Given the description of an element on the screen output the (x, y) to click on. 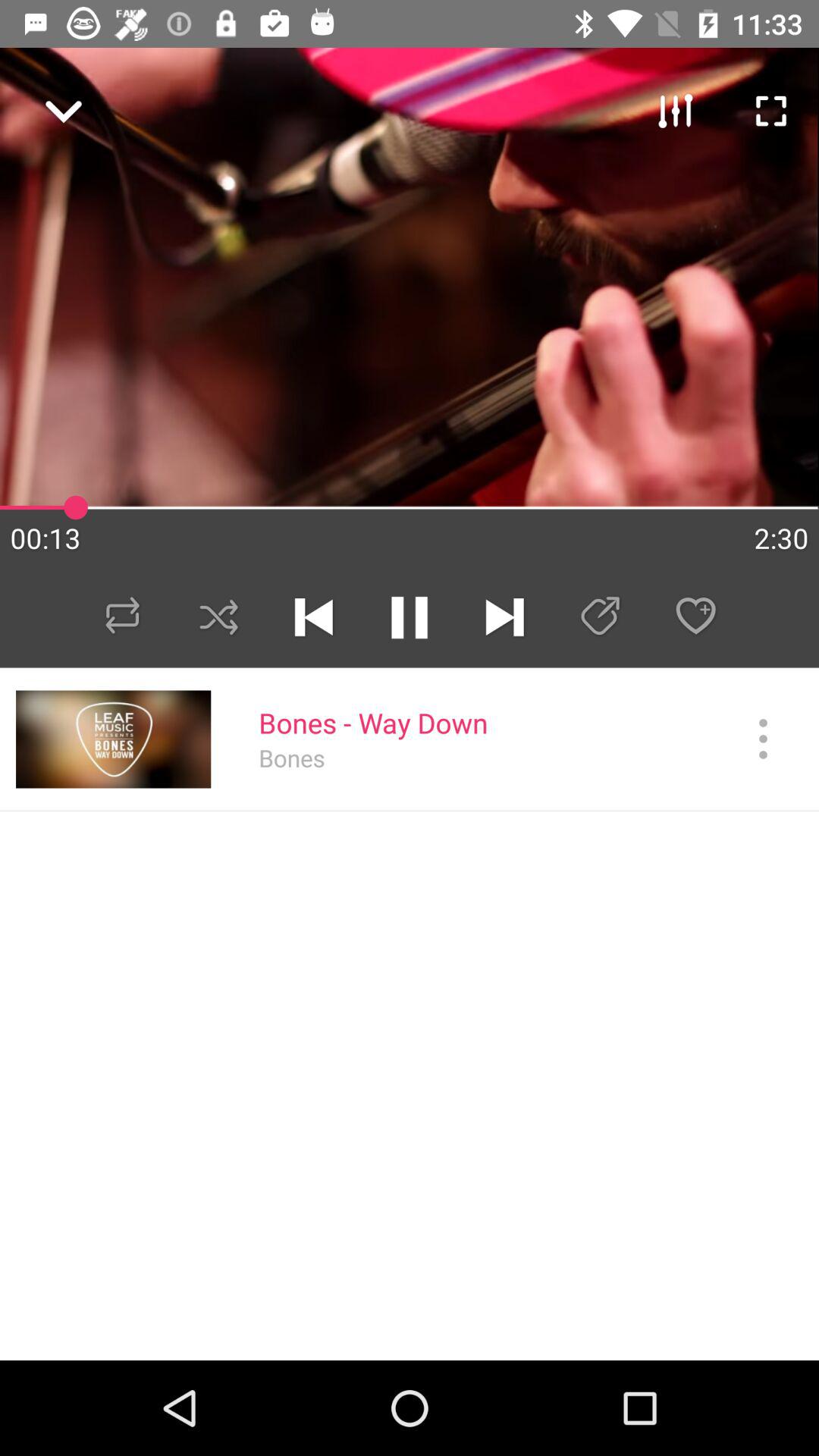
click on the drop down in the top (56, 103)
full screen in top right corner (763, 103)
